Given the description of an element on the screen output the (x, y) to click on. 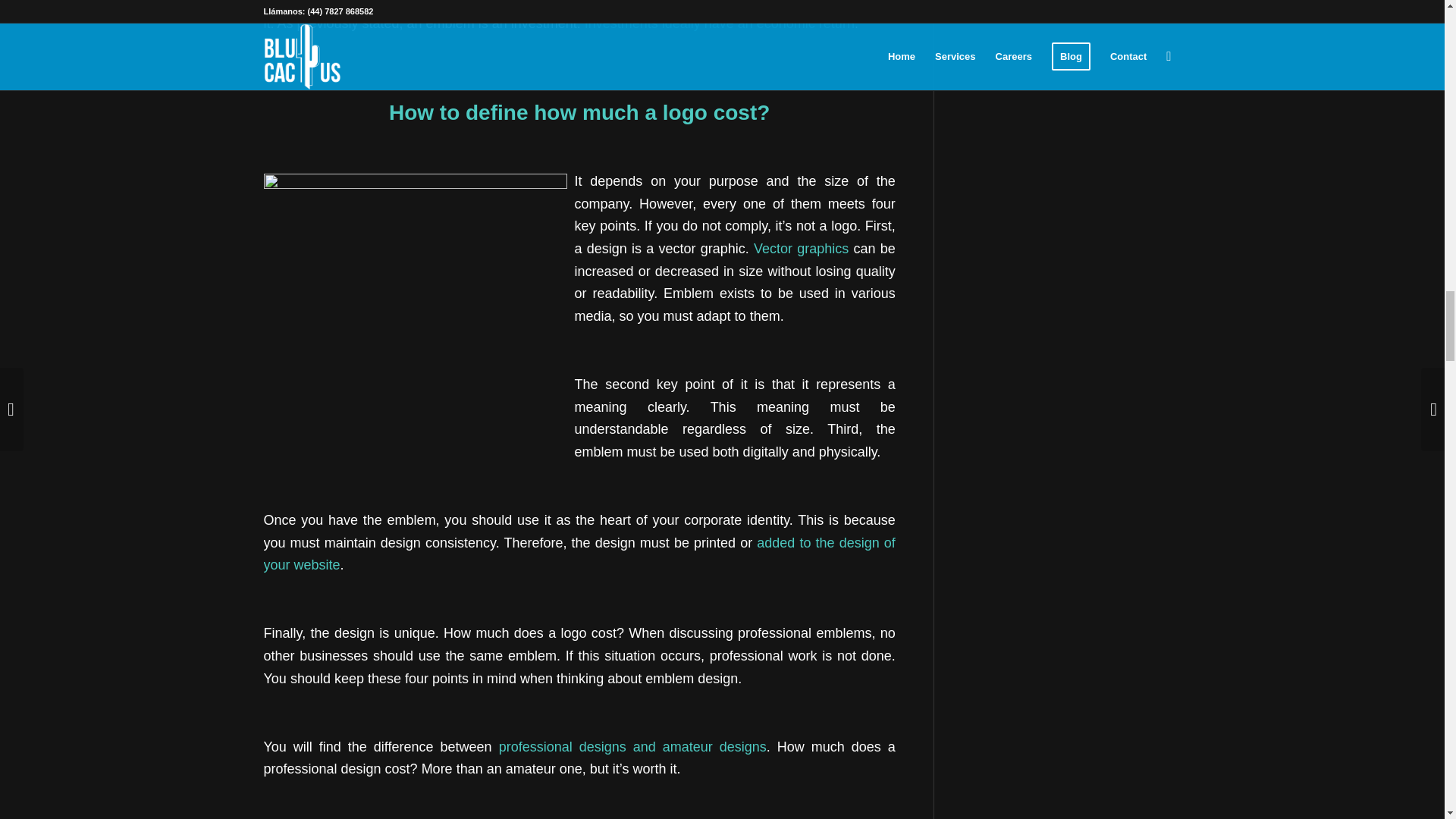
Investments ideally have an economic return (719, 23)
Return-on-Investment for Select Economic Development (719, 23)
Vector graphics (798, 248)
